Given the description of an element on the screen output the (x, y) to click on. 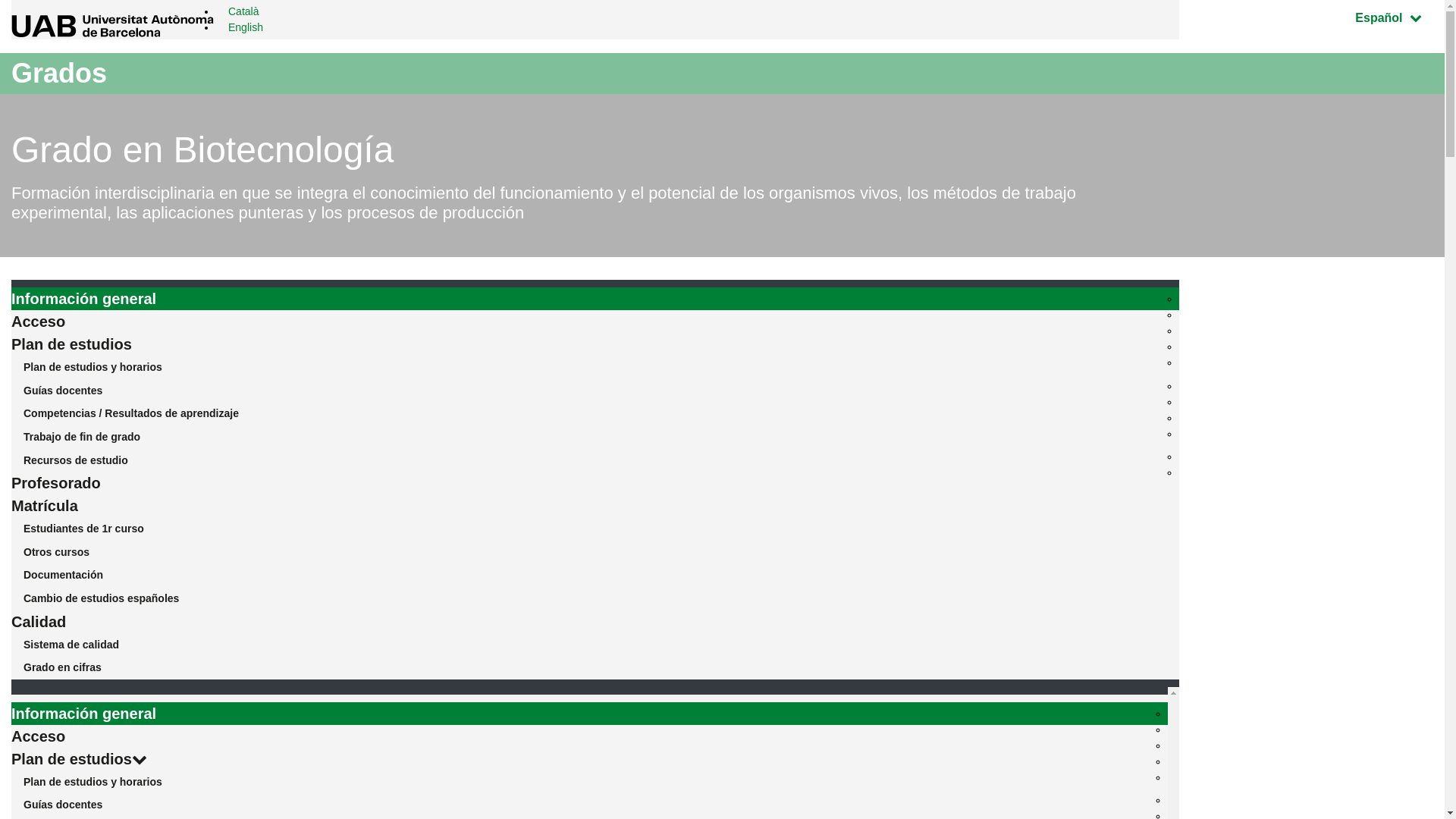
Sistema de calidad Element type: text (595, 644)
Grado en cifras Element type: text (595, 667)
Calidad Element type: text (595, 621)
Profesorado Element type: text (595, 482)
Otros cursos Element type: text (595, 552)
Plan de estudios Element type: text (589, 758)
Acceso Element type: text (595, 321)
Grados Element type: text (58, 72)
English Element type: text (245, 27)
Plan de estudios Element type: text (595, 343)
Plan de estudios y horarios Element type: text (589, 781)
Estudiantes de 1r curso Element type: text (595, 528)
Competencias / Resultados de aprendizaje Element type: text (595, 414)
Plan de estudios y horarios Element type: text (595, 367)
Recursos de estudio Element type: text (595, 460)
Acceso Element type: text (589, 735)
Trabajo de fin de grado Element type: text (595, 436)
